Given the description of an element on the screen output the (x, y) to click on. 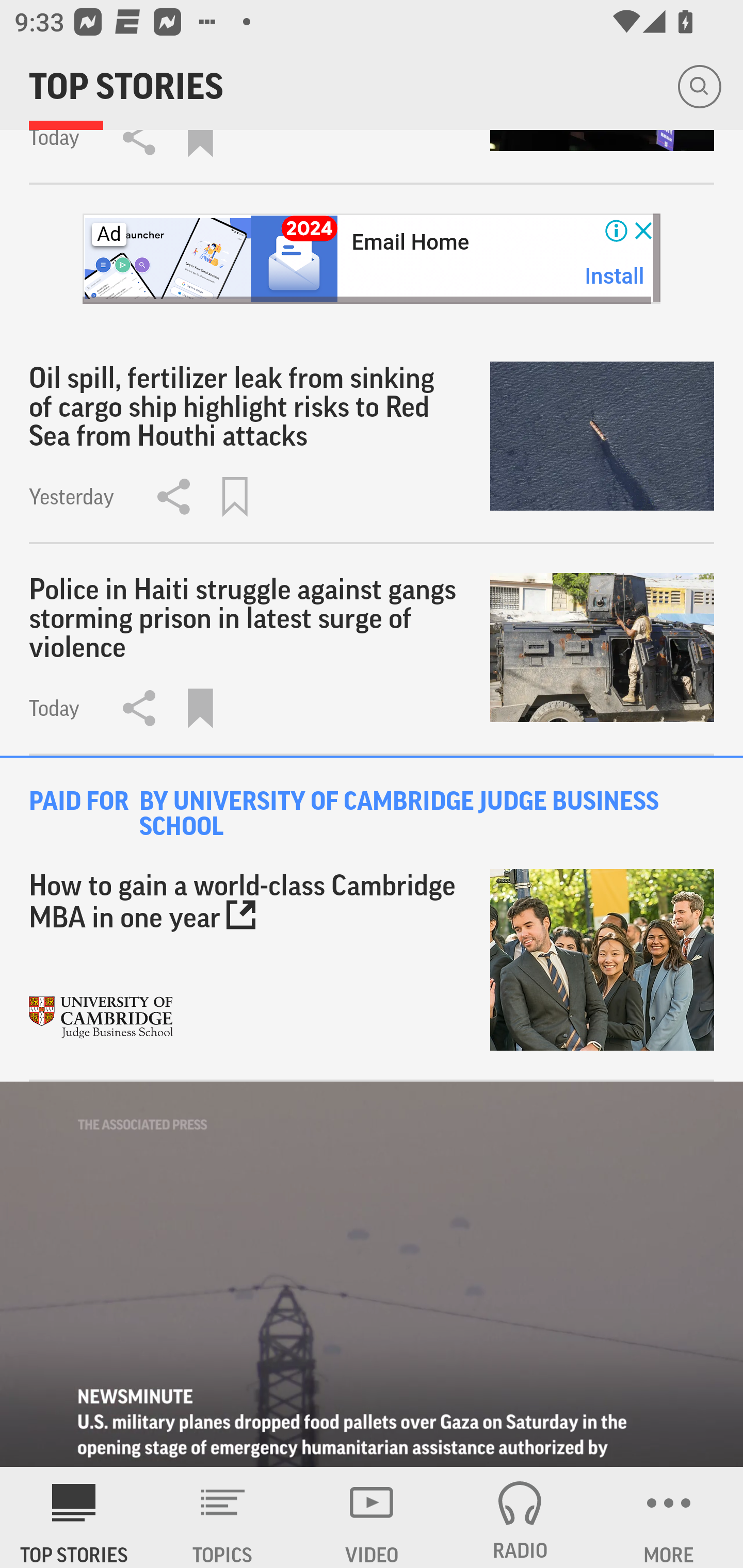
Email Home (409, 242)
Install (614, 276)
toggle controls (371, 1274)
AP News TOP STORIES (74, 1517)
TOPICS (222, 1517)
VIDEO (371, 1517)
RADIO (519, 1517)
MORE (668, 1517)
